Given the description of an element on the screen output the (x, y) to click on. 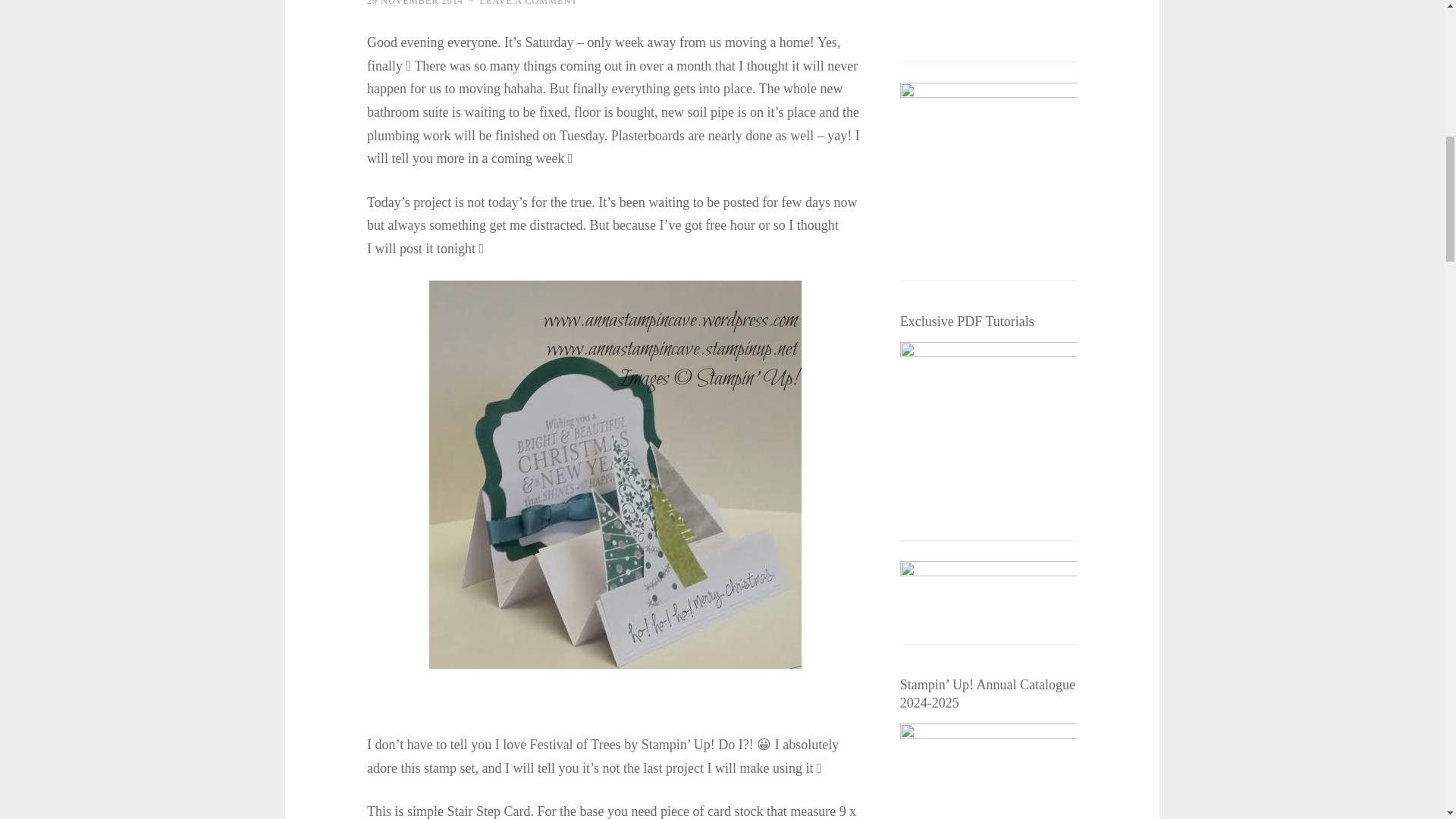
LEAVE A COMMENT (529, 2)
29 NOVEMBER 2014 (414, 2)
Exclusive PDF Tutorials (988, 430)
